Given the description of an element on the screen output the (x, y) to click on. 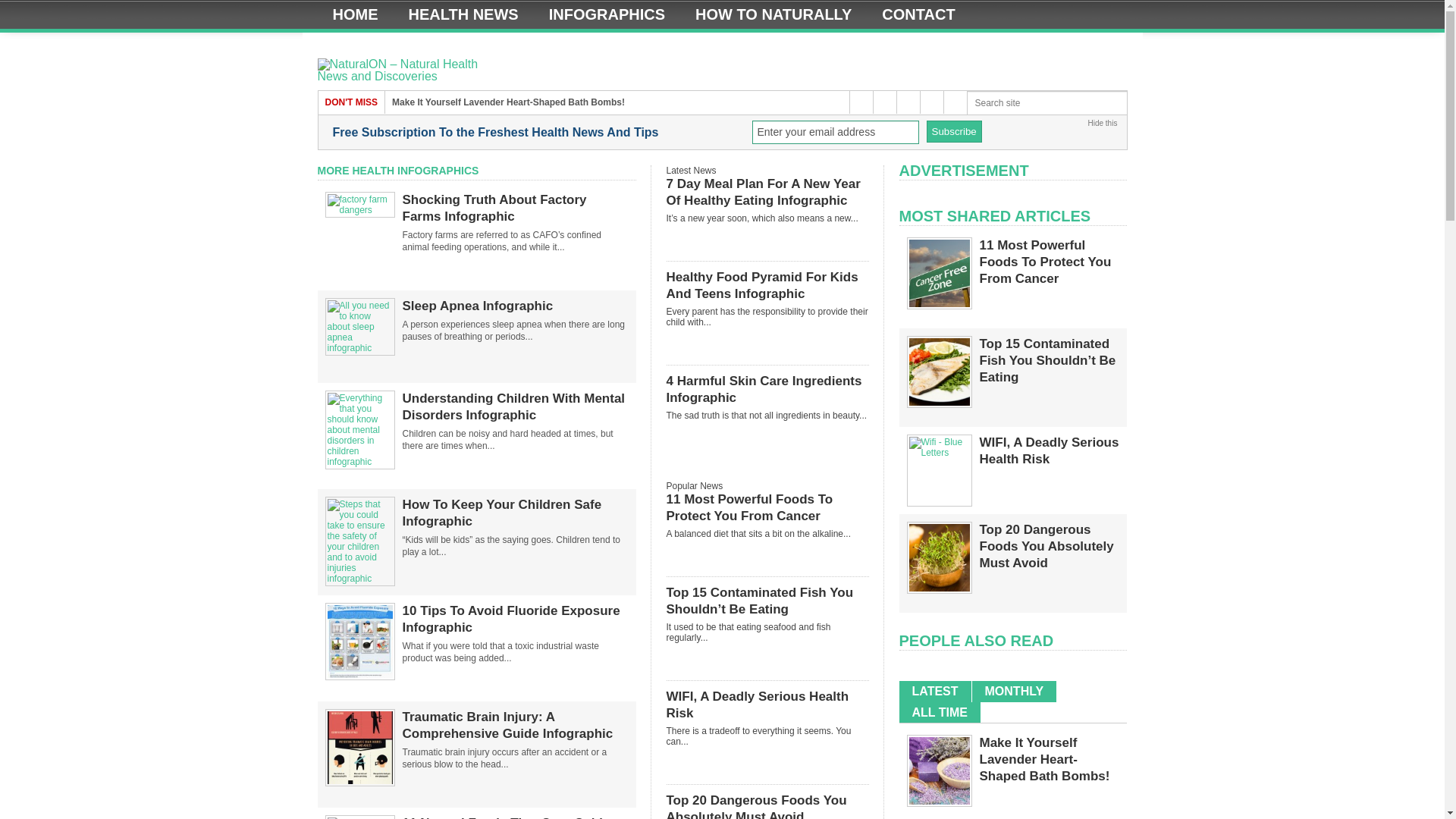
HOW TO NATURALLY (772, 14)
Shocking Truth about Factory Farms Infographic (359, 209)
Make It Yourself Lavender Heart-Shaped Bath Bombs! (507, 102)
HOME (355, 14)
INFOGRAPHICS (606, 14)
10 Tips To Avoid Fluoride Exposure Infographic (514, 619)
Subscribe (953, 131)
Shocking Truth About Factory Farms Infographic (514, 208)
11 Natural Foods That Cure Colds Infographic (514, 816)
10 Tips to Avoid Fluoride Exposure Infographic (359, 676)
Subscribe (953, 131)
Sleep Apnea Infographic (359, 347)
11 Most Powerful Foods To Protect You From Cancer (938, 303)
HEALTH NEWS (462, 14)
How to Keep Your Children Safe Infographic (359, 578)
